Given the description of an element on the screen output the (x, y) to click on. 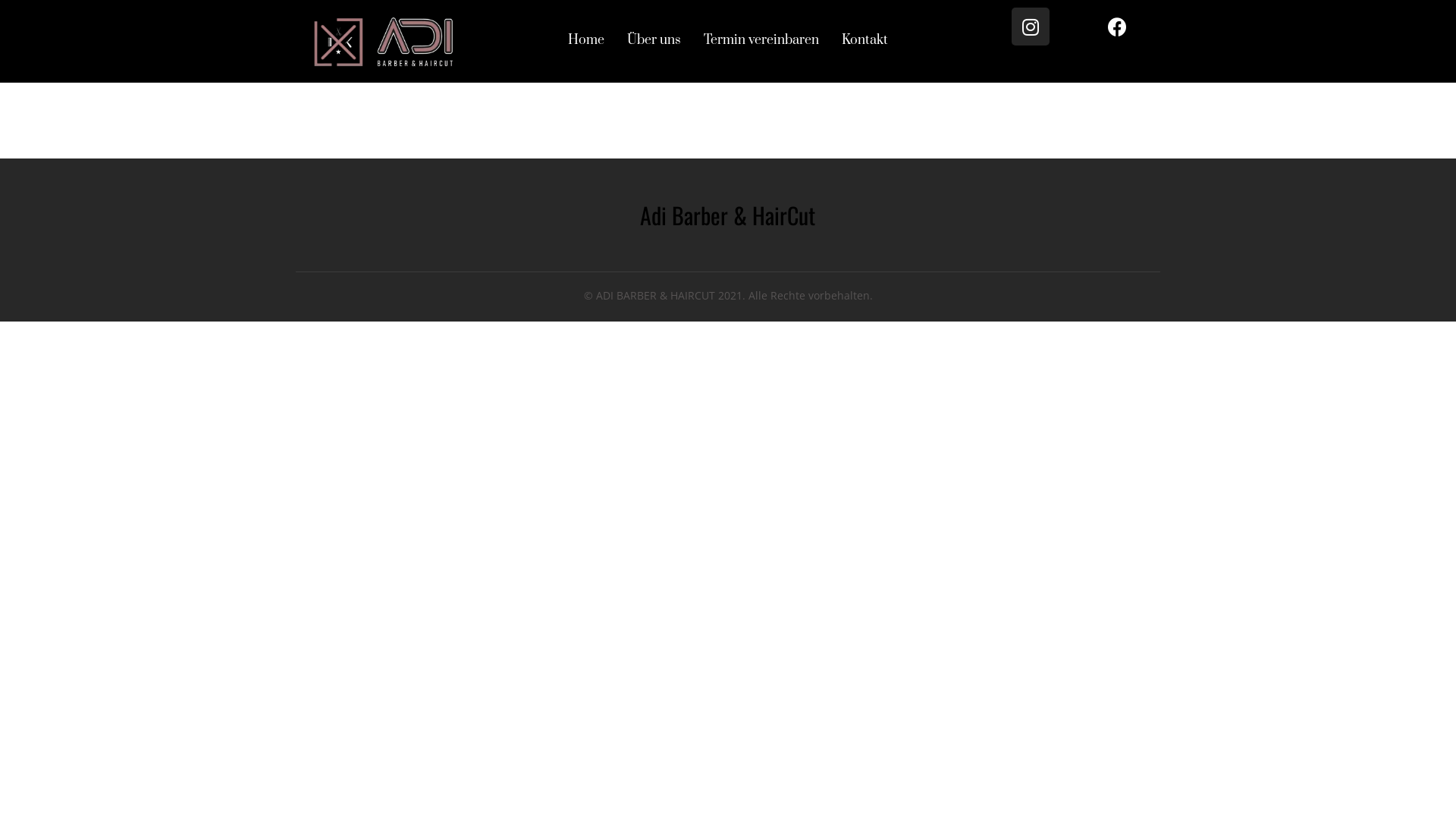
Adi Barber & HairCut Element type: text (727, 214)
Kontakt Element type: text (864, 39)
Termin vereinbaren Element type: text (761, 39)
Home Element type: text (585, 39)
